Given the description of an element on the screen output the (x, y) to click on. 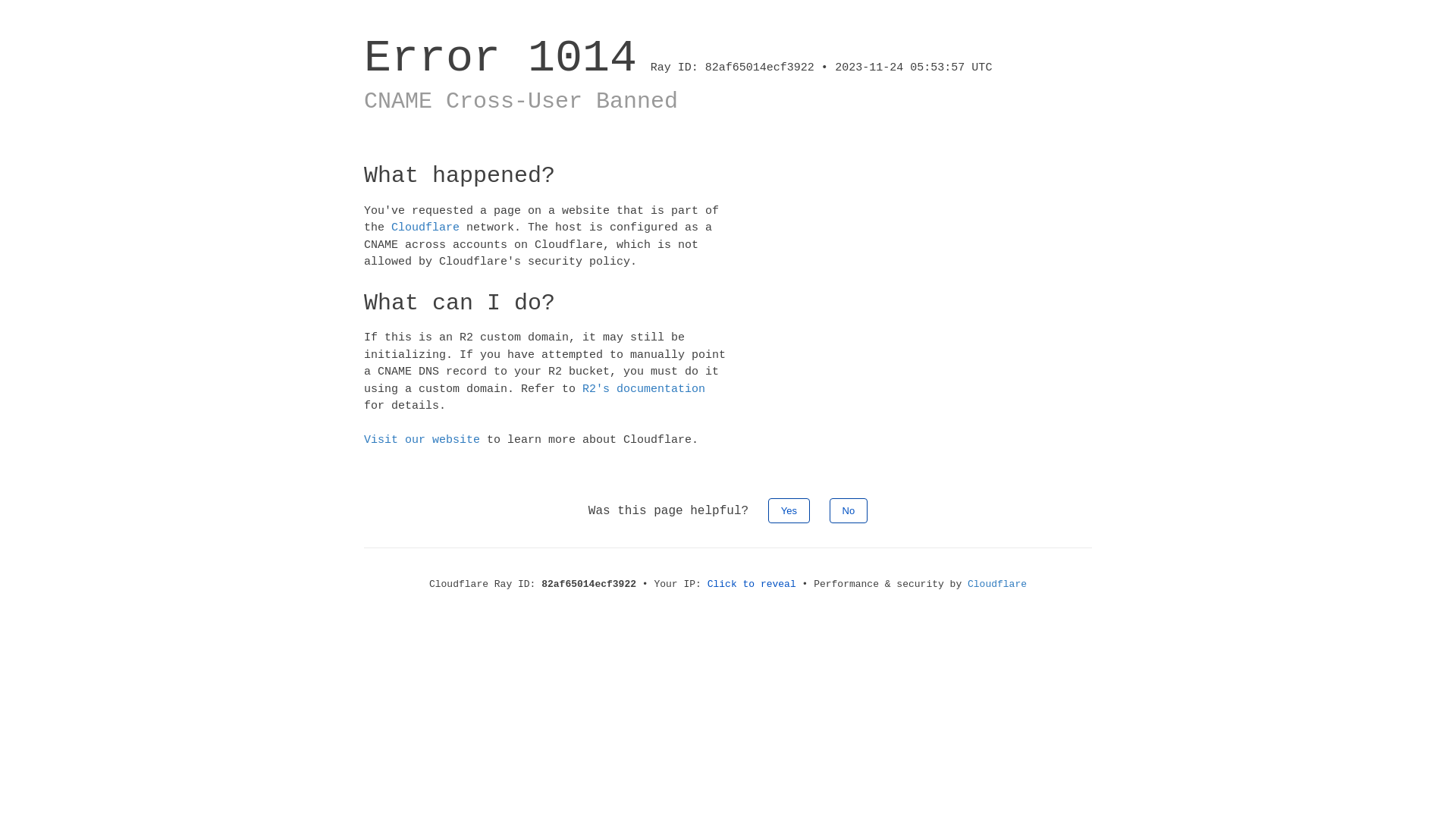
R2's documentation Element type: text (643, 388)
Cloudflare Element type: text (996, 583)
Visit our website Element type: text (422, 439)
Yes Element type: text (788, 509)
Cloudflare Element type: text (425, 227)
Click to reveal Element type: text (751, 583)
No Element type: text (848, 509)
